Given the description of an element on the screen output the (x, y) to click on. 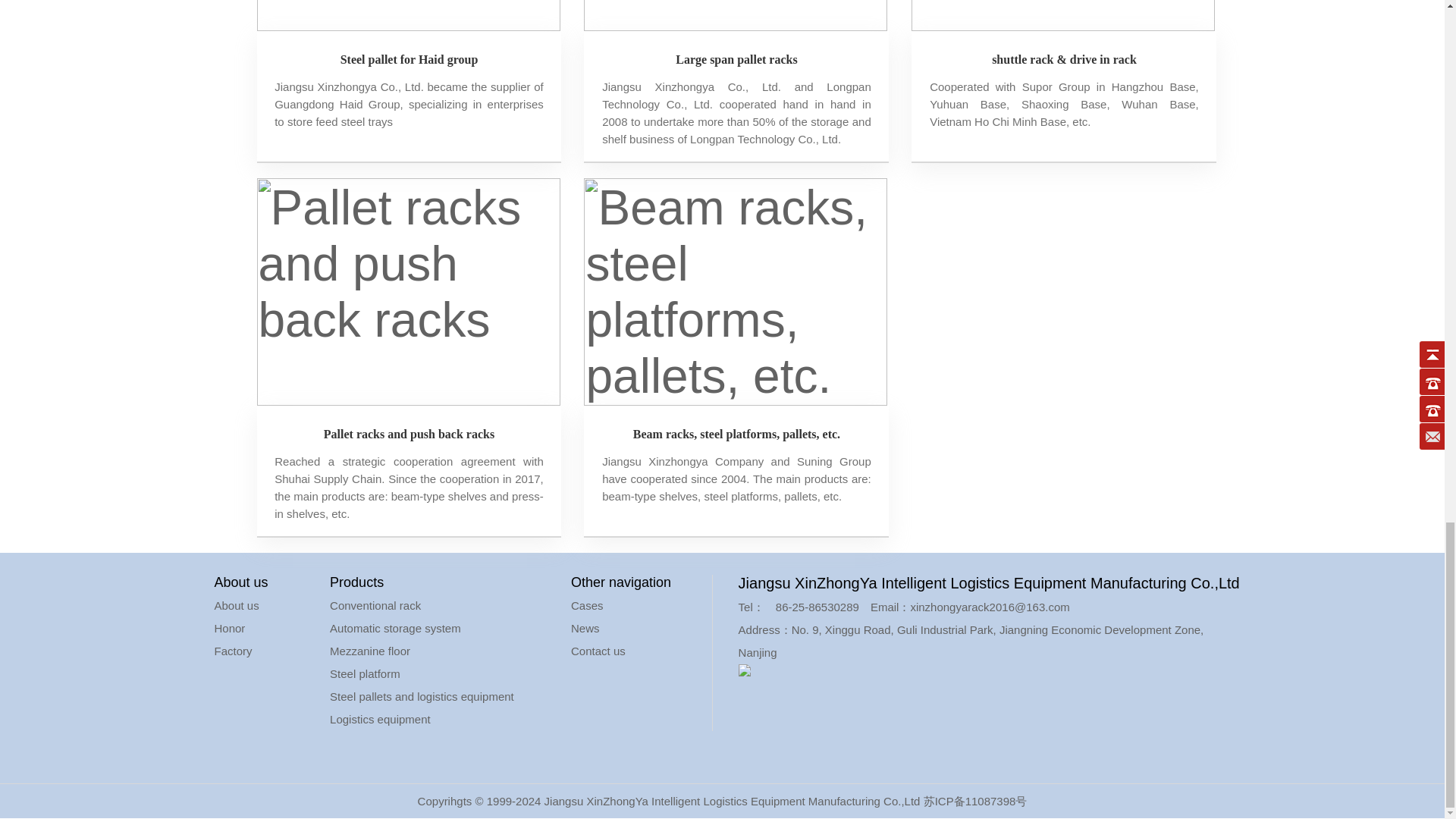
News (584, 627)
Honor (229, 627)
Logistics equipment (380, 718)
Automatic storage system (395, 627)
Conventional rack (375, 604)
Mezzanine floor (370, 650)
Steel platform (365, 673)
Steel pallets and logistics equipment (421, 696)
Contact us (598, 650)
